Given the description of an element on the screen output the (x, y) to click on. 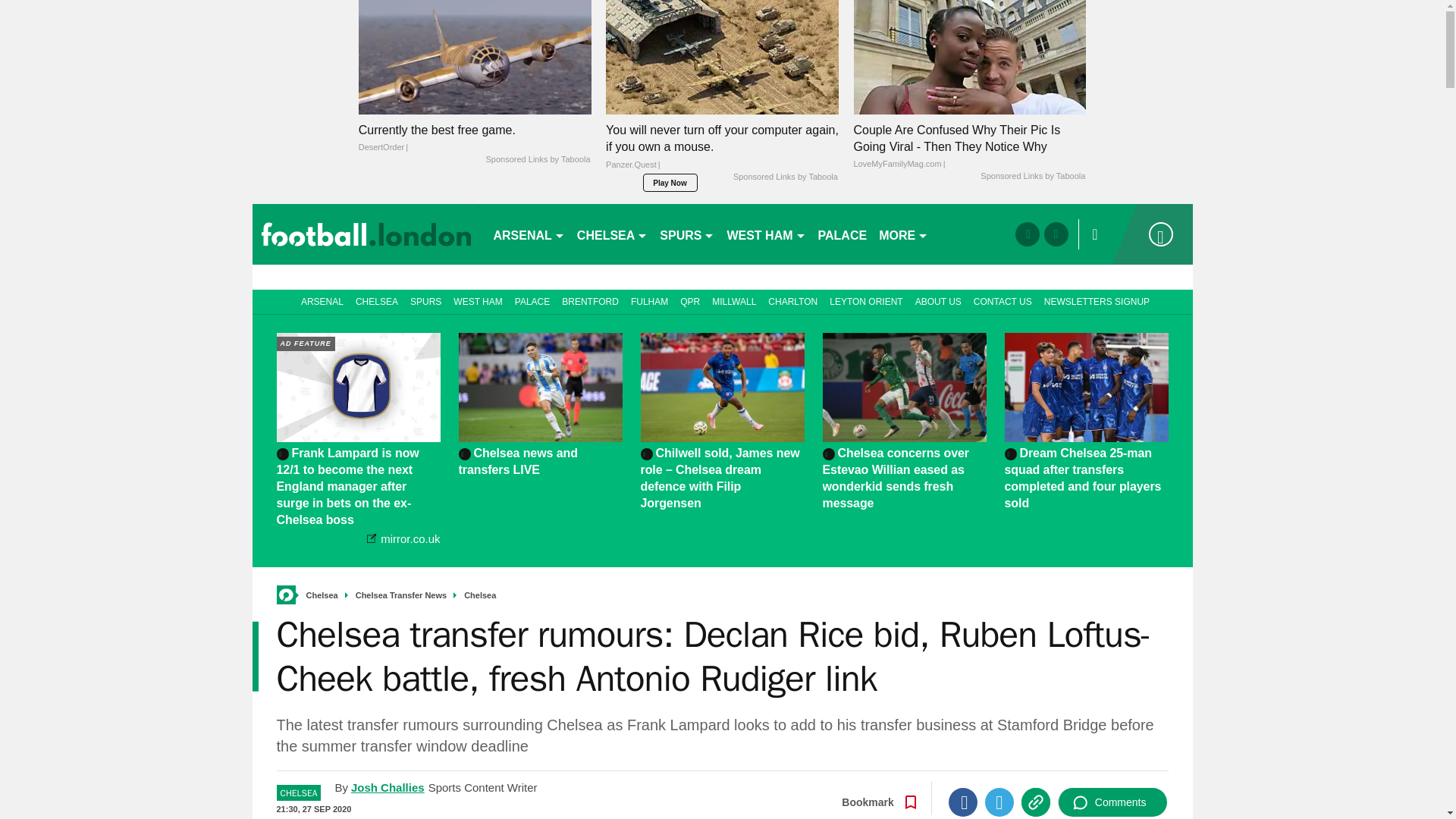
Sponsored Links by Taboola (536, 159)
footballlondon (365, 233)
SPURS (686, 233)
twitter (1055, 233)
WEST HAM (765, 233)
CHELSEA (611, 233)
Comments (1112, 801)
Sponsored Links by Taboola (1031, 176)
facebook (1026, 233)
Play Now (670, 182)
Facebook (962, 801)
